Given the description of an element on the screen output the (x, y) to click on. 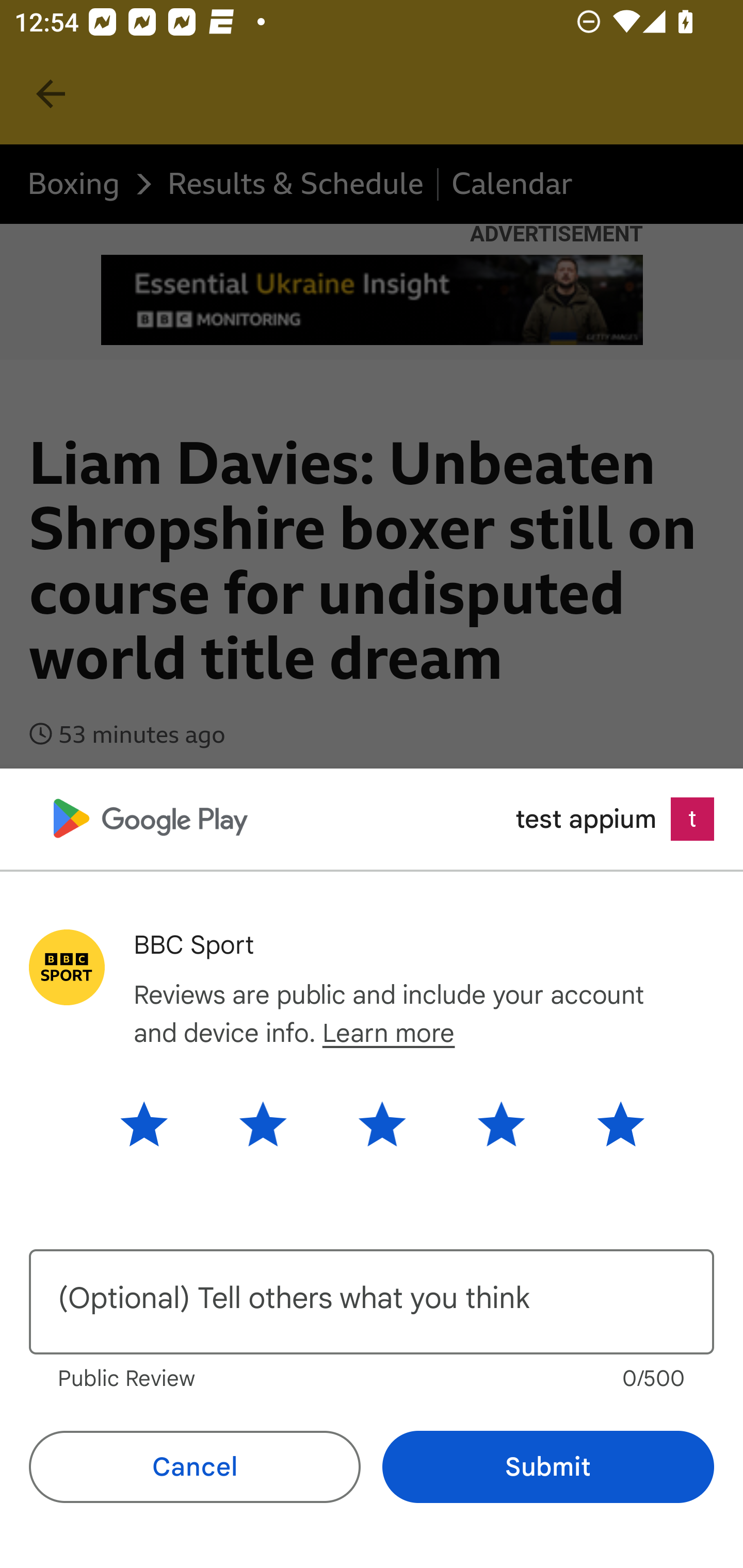
First star selected (159, 1123)
Second star selected (262, 1123)
Third star selected (381, 1123)
Fourth star selected (500, 1123)
Fifth star selected (604, 1123)
(Optional) Tell others what you think (371, 1301)
Cancel (194, 1466)
Submit (548, 1466)
